Given the description of an element on the screen output the (x, y) to click on. 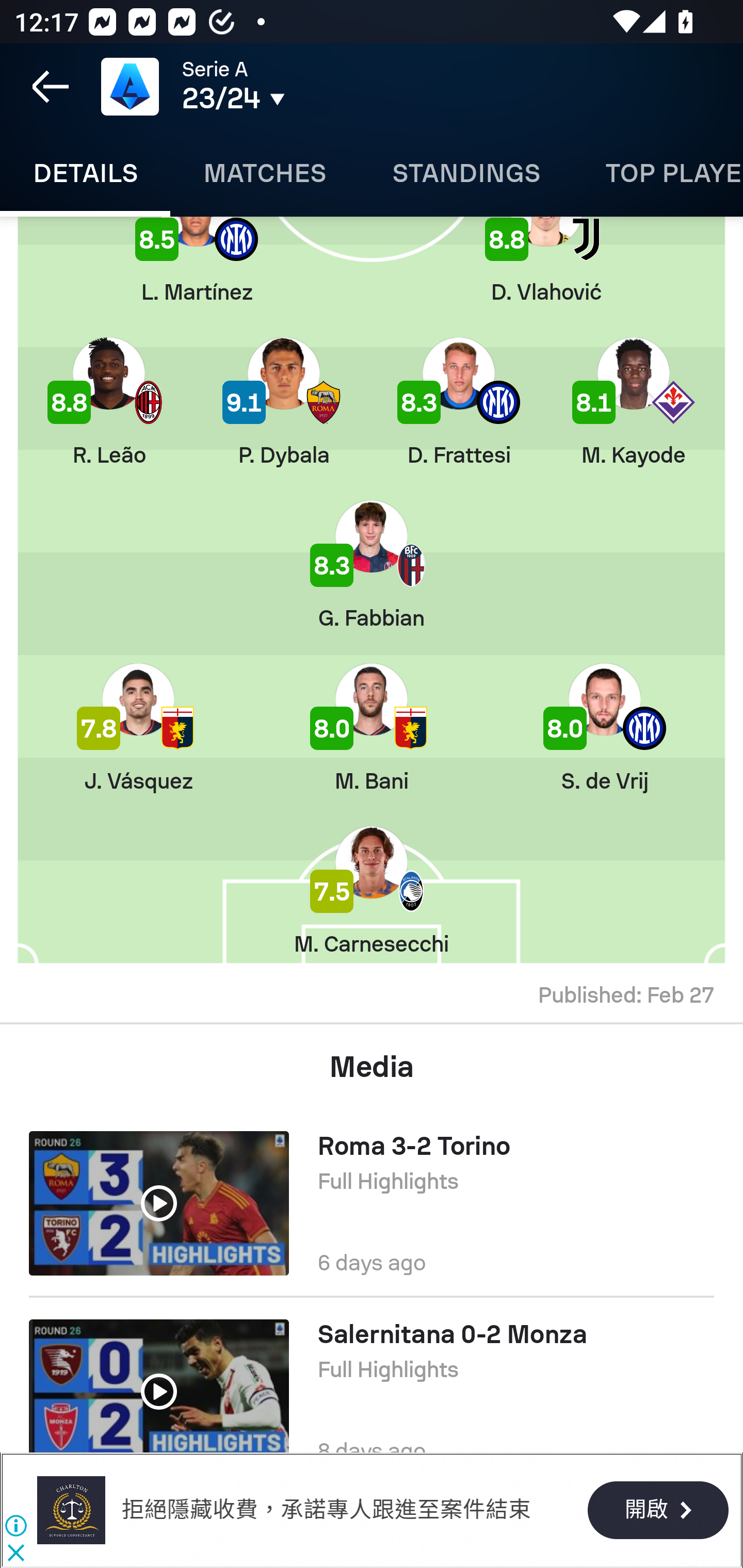
Navigate up (50, 86)
23/24 (300, 98)
Matches MATCHES (264, 173)
Standings STANDINGS (465, 173)
Top players TOP PLAYERS (657, 173)
L. Martínez (196, 260)
D. Vlahović (546, 260)
R. Leão (108, 402)
P. Dybala (283, 402)
D. Frattesi (458, 402)
M. Kayode (633, 402)
G. Fabbian (371, 565)
J. Vásquez (137, 728)
M. Bani (371, 728)
S. de Vrij (604, 728)
M. Carnesecchi (371, 891)
查爾頓事務所 (71, 1509)
開啟 (657, 1511)
拒絕隱藏收費，承諾專人跟進至案件結束 (332, 1509)
